Given the description of an element on the screen output the (x, y) to click on. 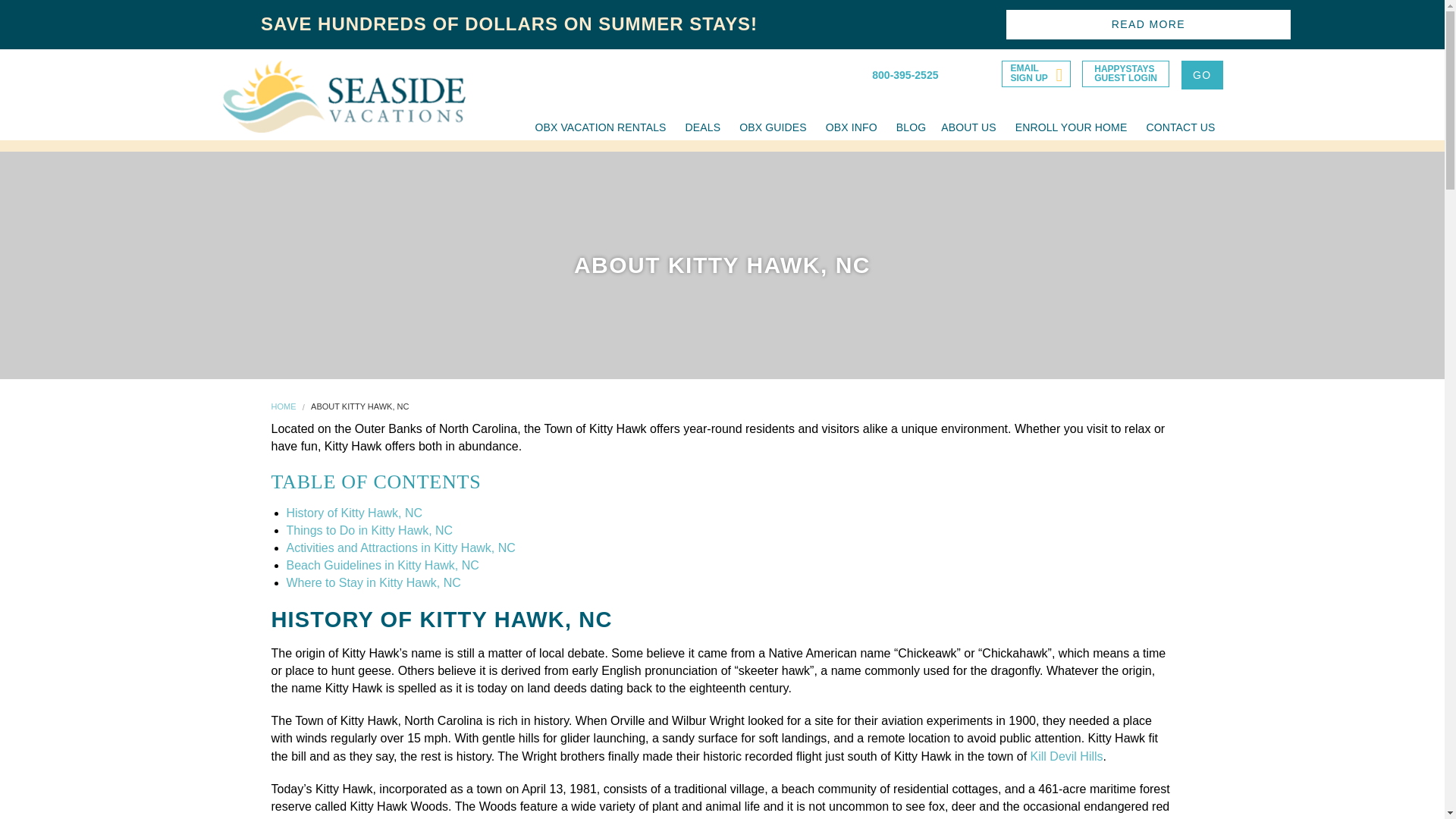
GO (1201, 74)
EMAIL SIGN UP (1035, 73)
800-395-2525 (897, 71)
Home (1125, 73)
OBX VACATION RENTALS (343, 95)
